Given the description of an element on the screen output the (x, y) to click on. 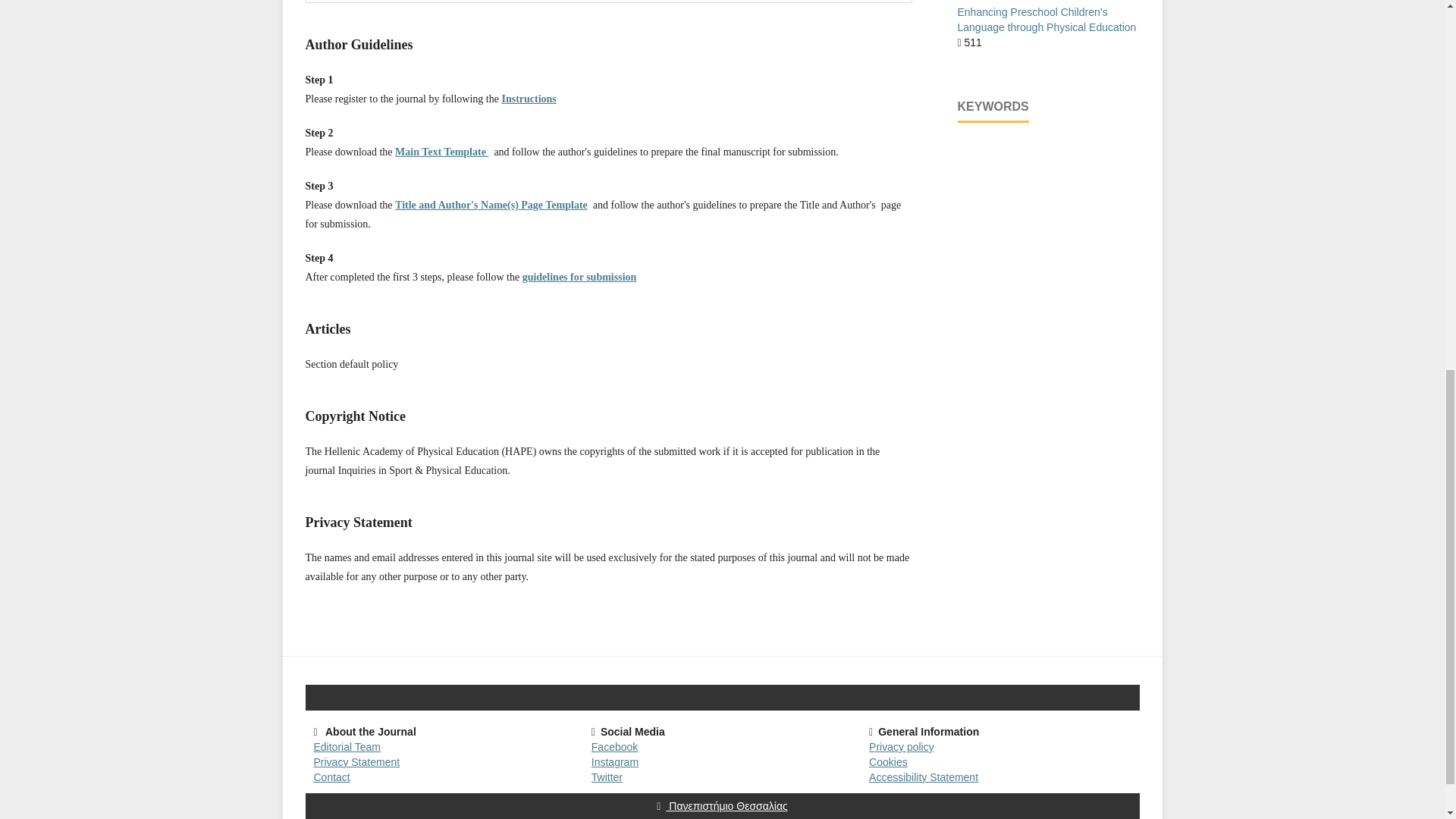
facebook (614, 746)
Cookies (888, 761)
Instagram (615, 761)
Instructions (528, 98)
Editorial Team (347, 746)
Privacy policy (901, 746)
Accessibility Statement (923, 776)
Main Text Template  (440, 152)
Privacy Statement (357, 761)
guidelines for submission (579, 276)
Privacy Statement (357, 761)
Contact (332, 776)
Editorial Team (347, 746)
Twitter (607, 776)
